Given the description of an element on the screen output the (x, y) to click on. 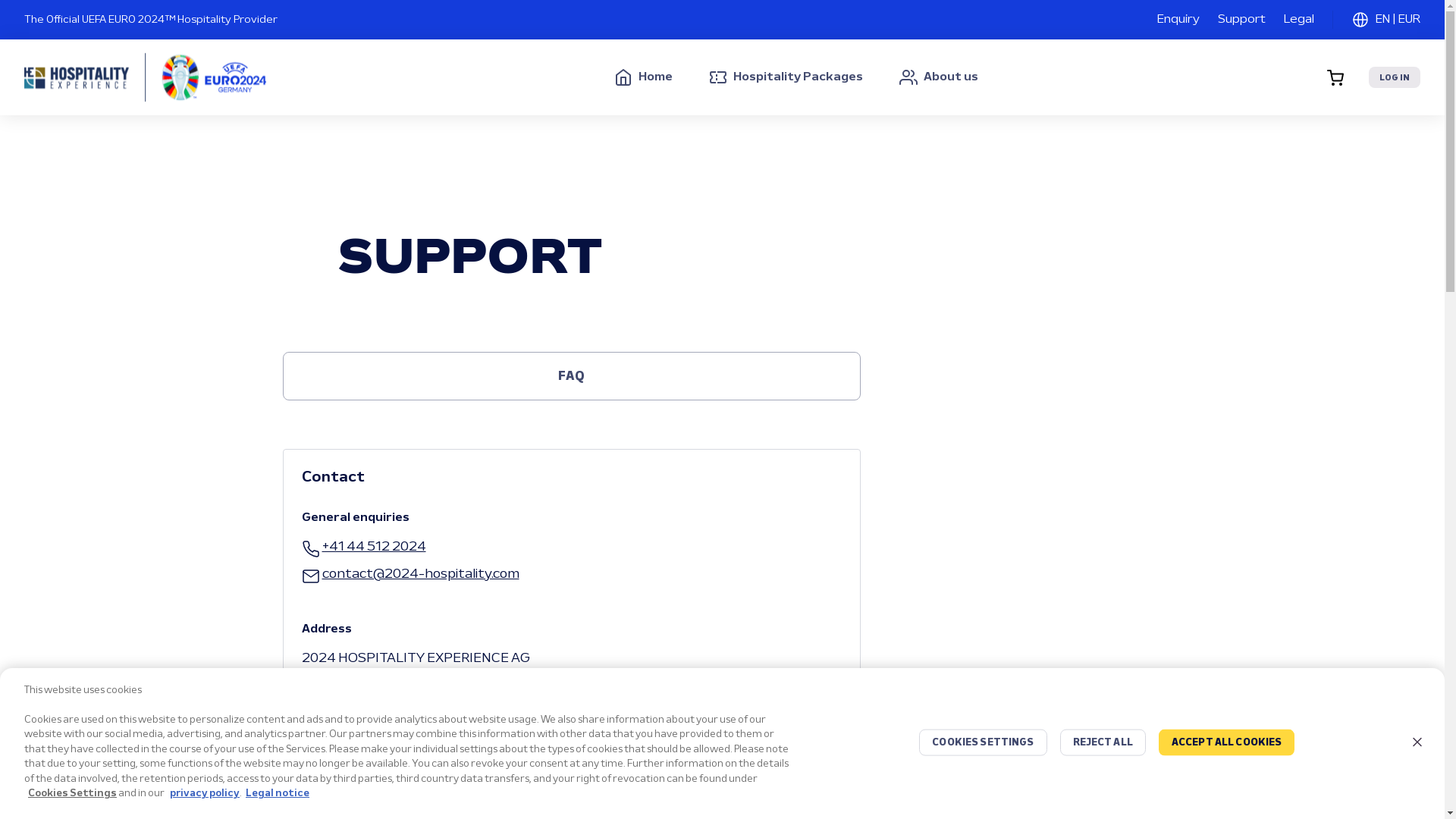
COOKIES SETTINGS Element type: text (982, 742)
contact@2024-hospitality.com Element type: text (410, 574)
LOG IN Element type: text (1394, 76)
EN | EUR Element type: text (1385, 19)
Support Element type: text (1241, 19)
FAQ Element type: text (571, 375)
Hospitality Packages Element type: text (785, 77)
About us Element type: text (938, 77)
GET IN TOUCH WITH US Element type: text (571, 790)
+41 44 512 2024 Element type: text (363, 547)
Cookies Settings Element type: text (72, 793)
ACCEPT ALL COOKIES Element type: text (1226, 742)
Legal Element type: text (1298, 19)
Home Element type: text (643, 77)
Enquiry Element type: text (1178, 19)
REJECT ALL Element type: text (1102, 742)
Legal notice Element type: text (277, 793)
privacy policy Element type: text (204, 793)
